Given the description of an element on the screen output the (x, y) to click on. 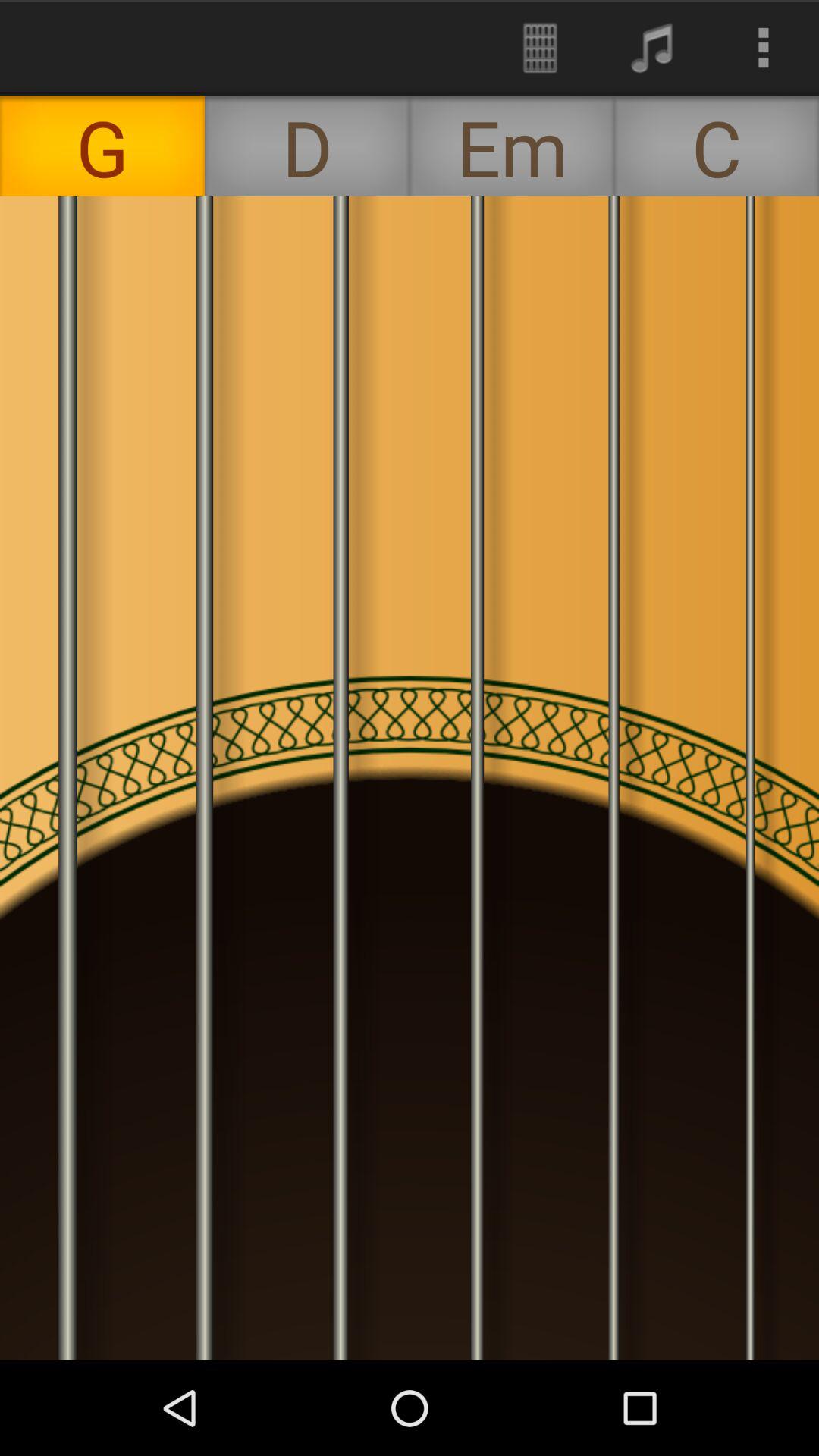
turn off the g icon (102, 145)
